Given the description of an element on the screen output the (x, y) to click on. 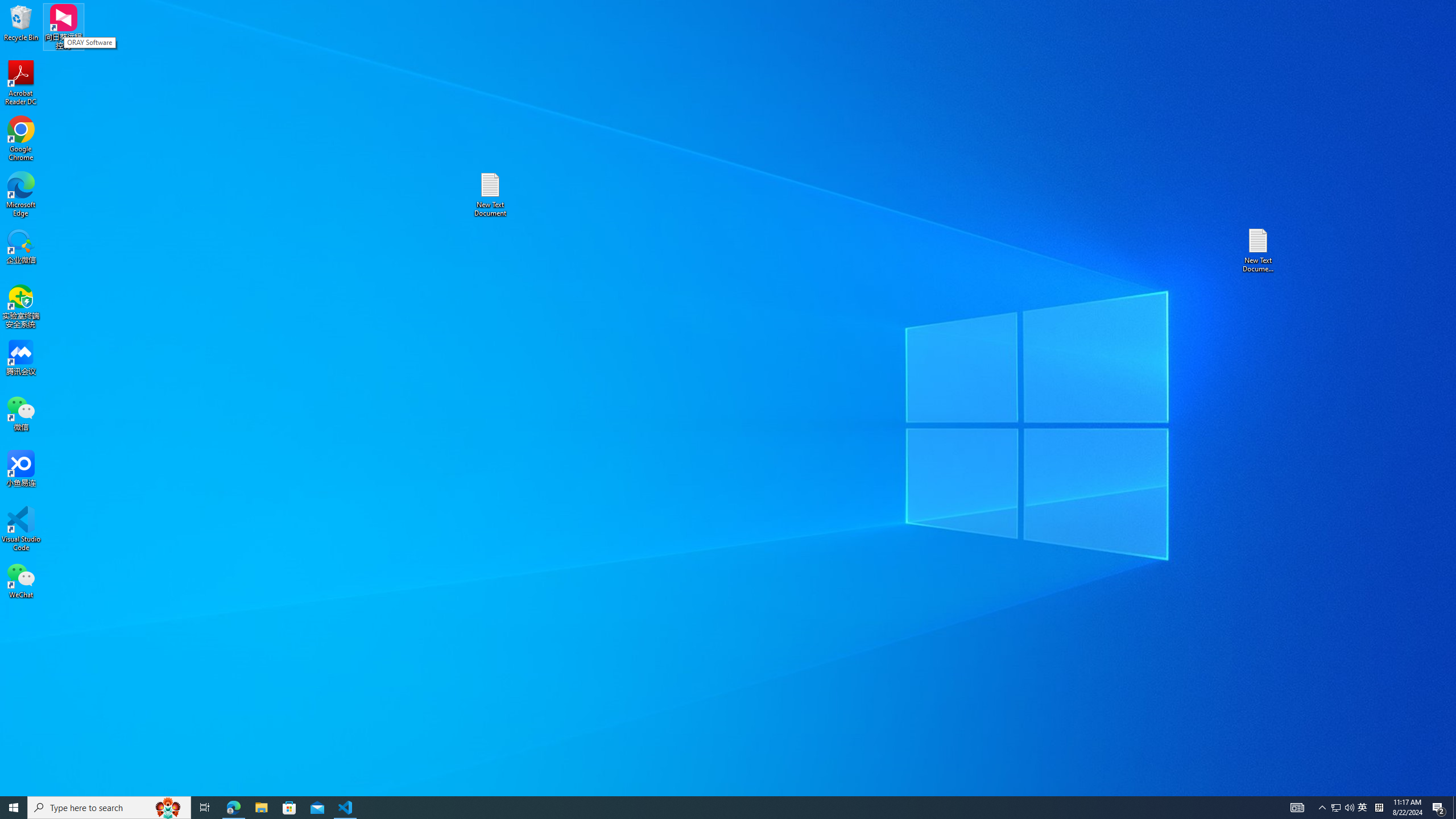
Notification Chevron (1322, 807)
Recycle Bin (21, 22)
Google Chrome (21, 138)
Search highlights icon opens search home window (167, 807)
Tray Input Indicator - Chinese (Simplified, China) (1335, 807)
Task View (1362, 807)
AutomationID: 4105 (1378, 807)
Microsoft Edge - 1 running window (204, 807)
Microsoft Store (1297, 807)
